Given the description of an element on the screen output the (x, y) to click on. 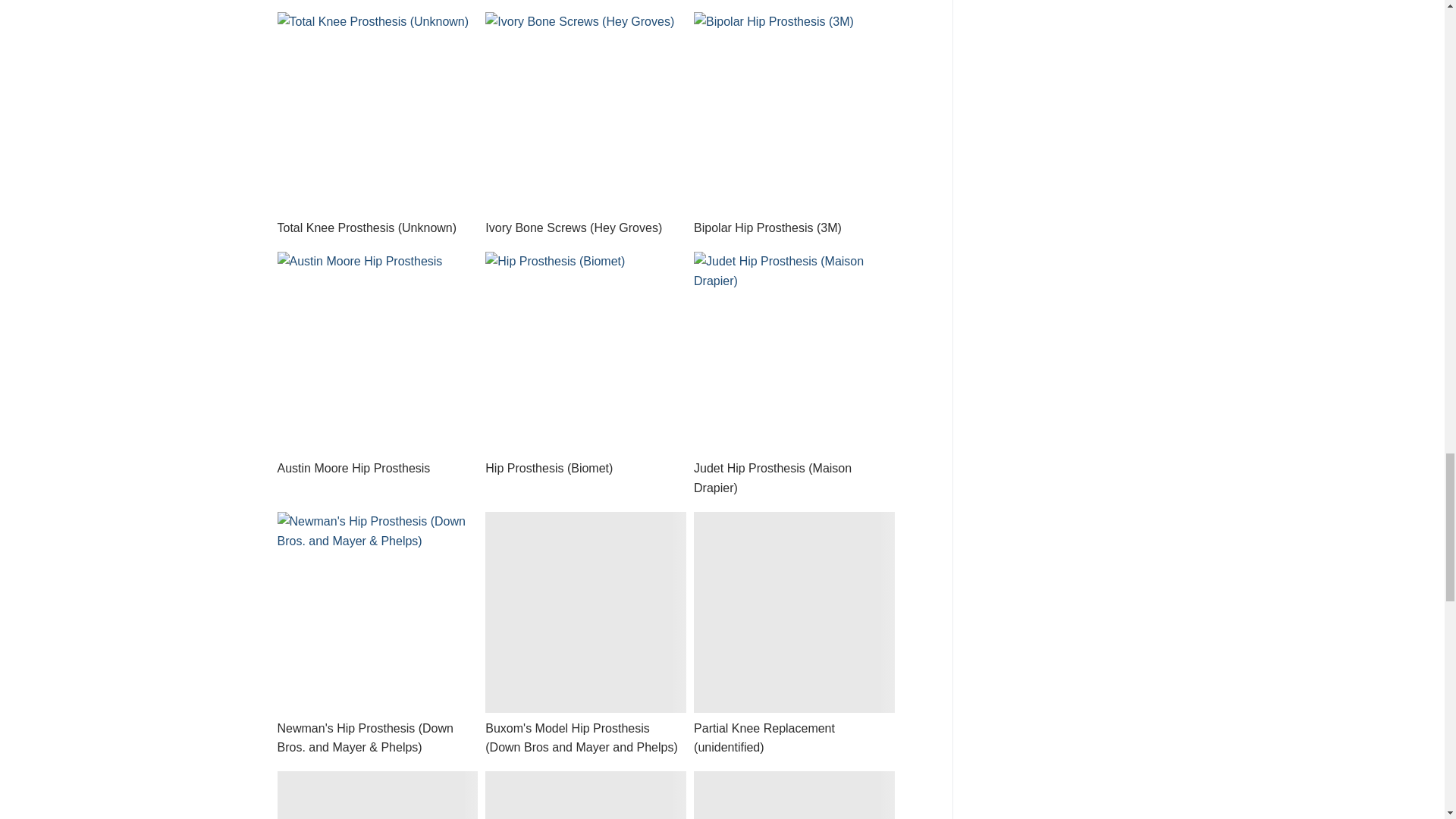
Austin Moore Hip Prosthesis (378, 351)
